Given the description of an element on the screen output the (x, y) to click on. 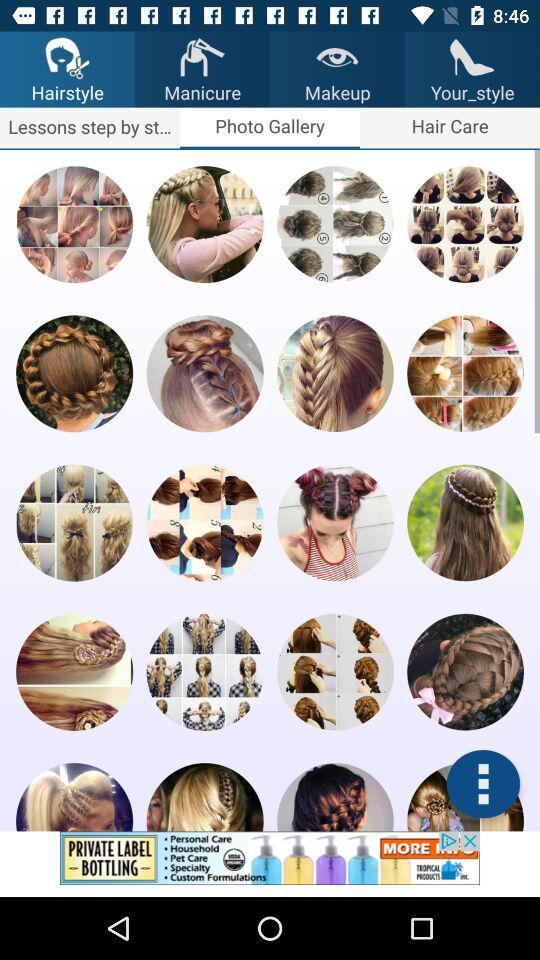
photo editing app (483, 784)
